Given the description of an element on the screen output the (x, y) to click on. 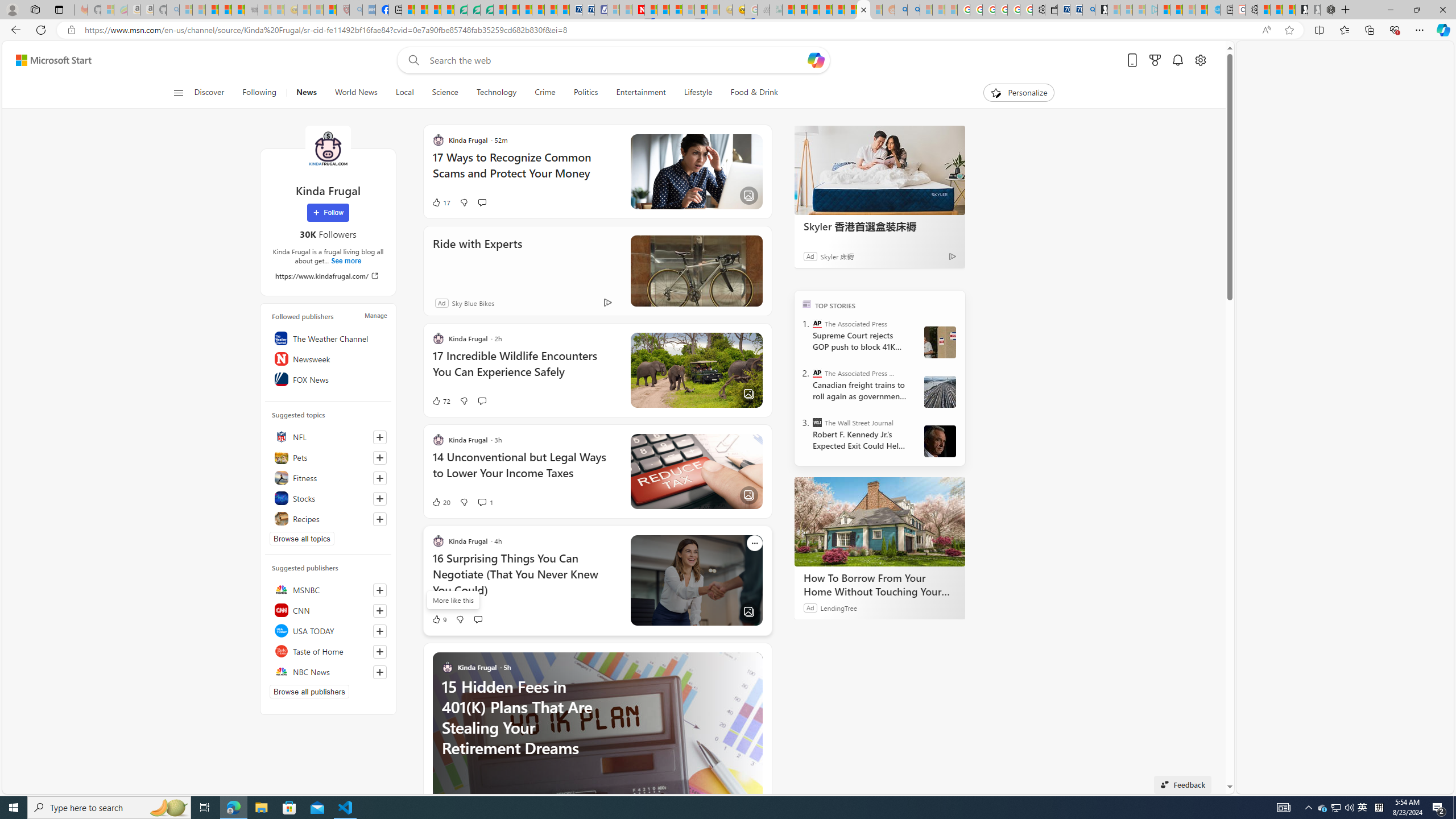
Following (258, 92)
World News (355, 92)
News (306, 92)
LendingTree (838, 607)
Local (404, 92)
Kinda Frugal - MSN (864, 9)
To get missing image descriptions, open the context menu. (995, 92)
Entertainment (640, 92)
17 Incredible Wildlife Encounters You Can Experience Safely (524, 369)
Notifications (1177, 60)
Local (403, 92)
https://www.kindafrugal.com/ (327, 275)
